Given the description of an element on the screen output the (x, y) to click on. 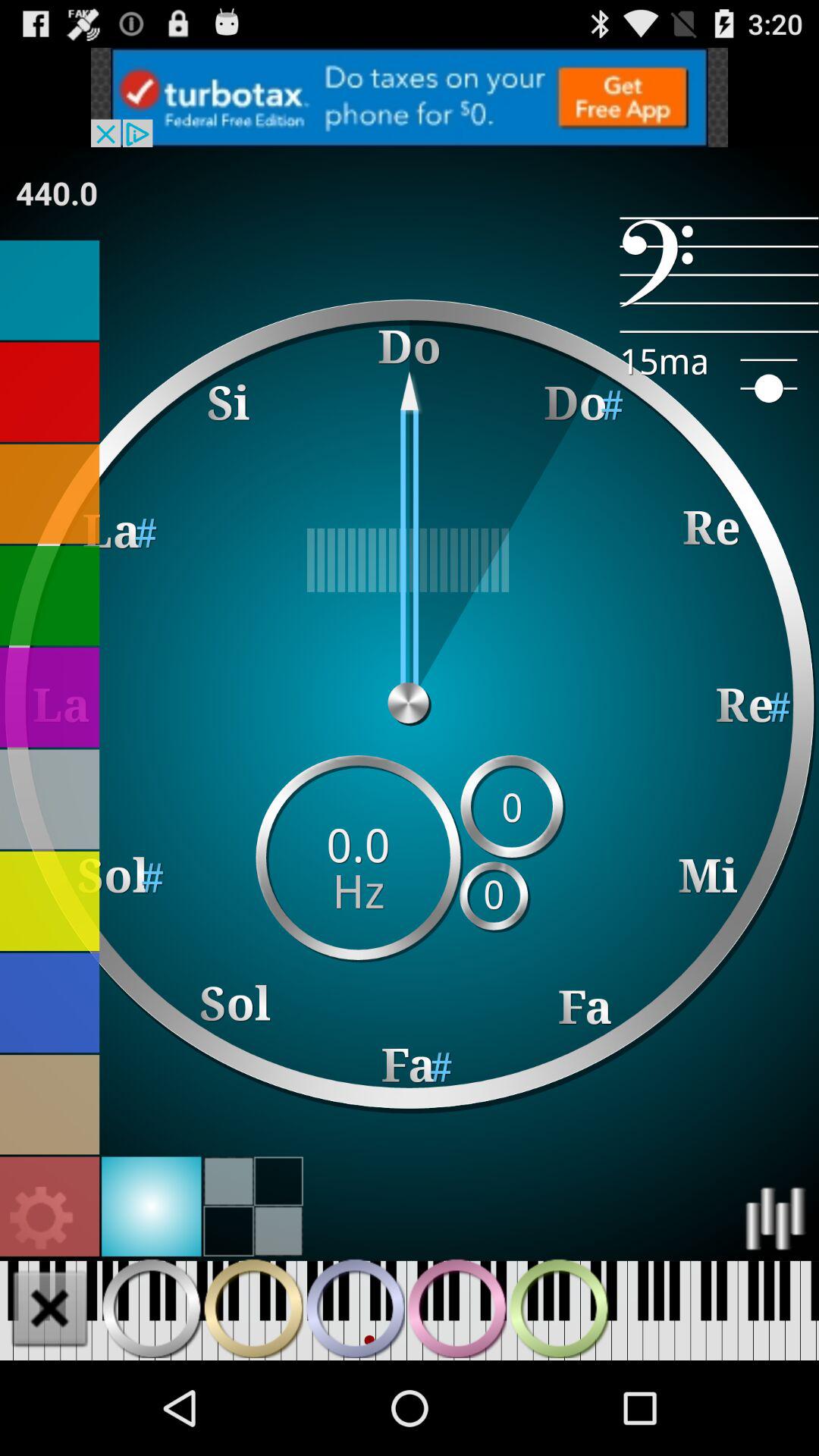
select color (49, 799)
